Given the description of an element on the screen output the (x, y) to click on. 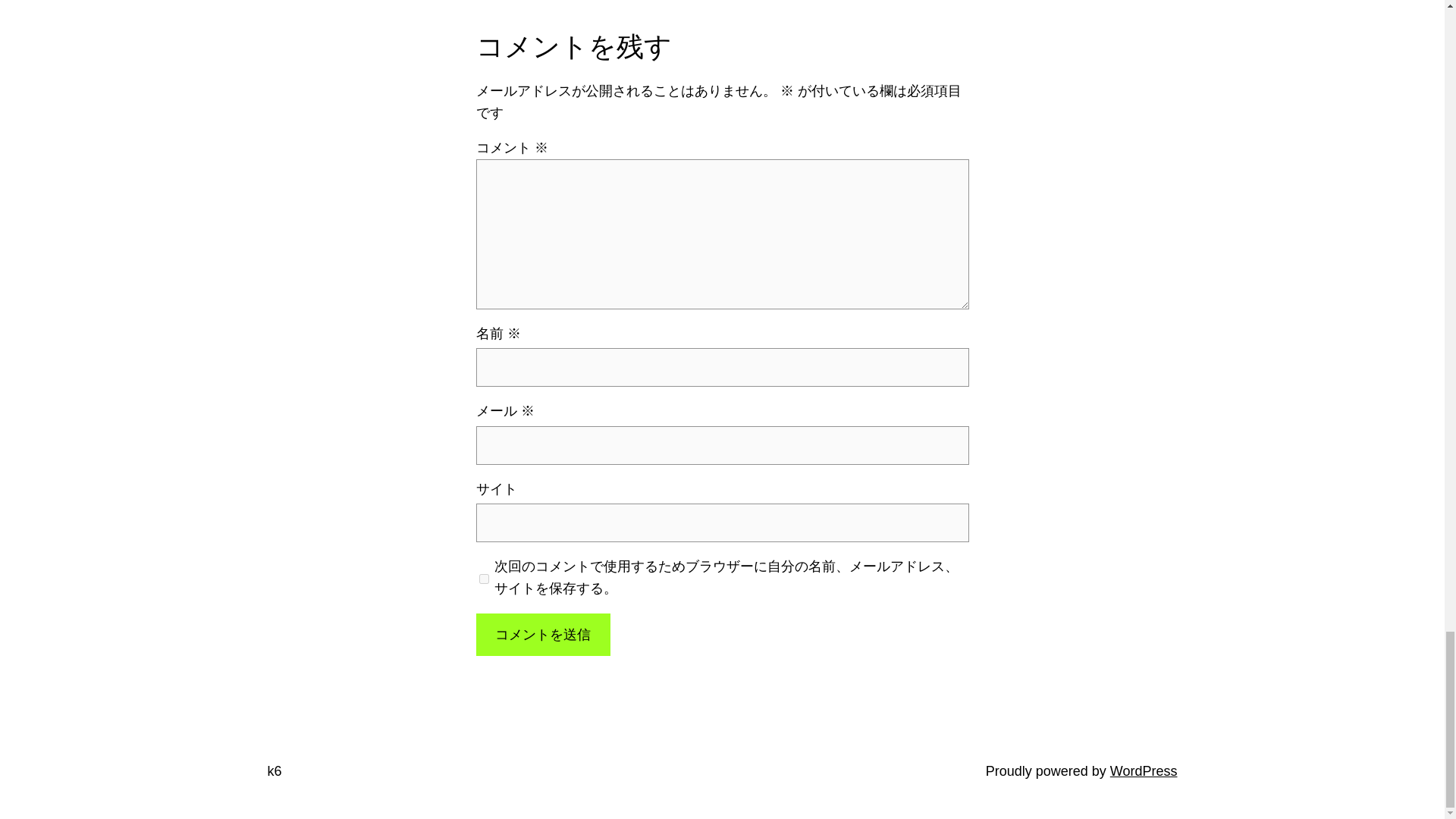
yes (484, 578)
k6 (273, 770)
WordPress (1143, 770)
